Given the description of an element on the screen output the (x, y) to click on. 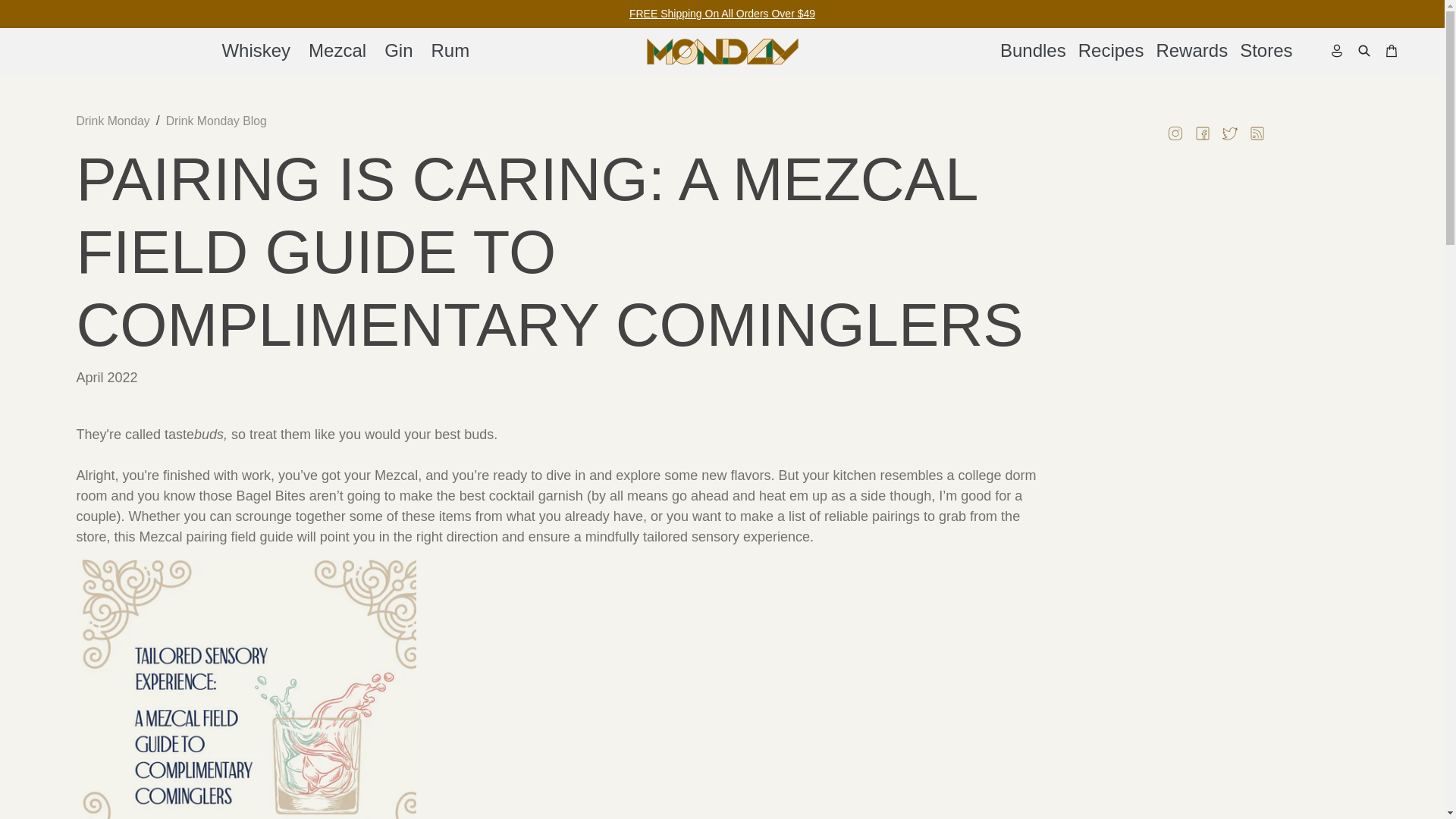
Drink Monday  on Instagram (1174, 132)
Stores (1265, 50)
RSS Feed Link (1257, 133)
Bundles (1032, 50)
Share on Facebook (1202, 132)
Recipes (1110, 50)
Link to Instagram (1174, 133)
Link to Twitter (1230, 133)
Link to Facebook (1202, 133)
Rewards (1191, 50)
